Given the description of an element on the screen output the (x, y) to click on. 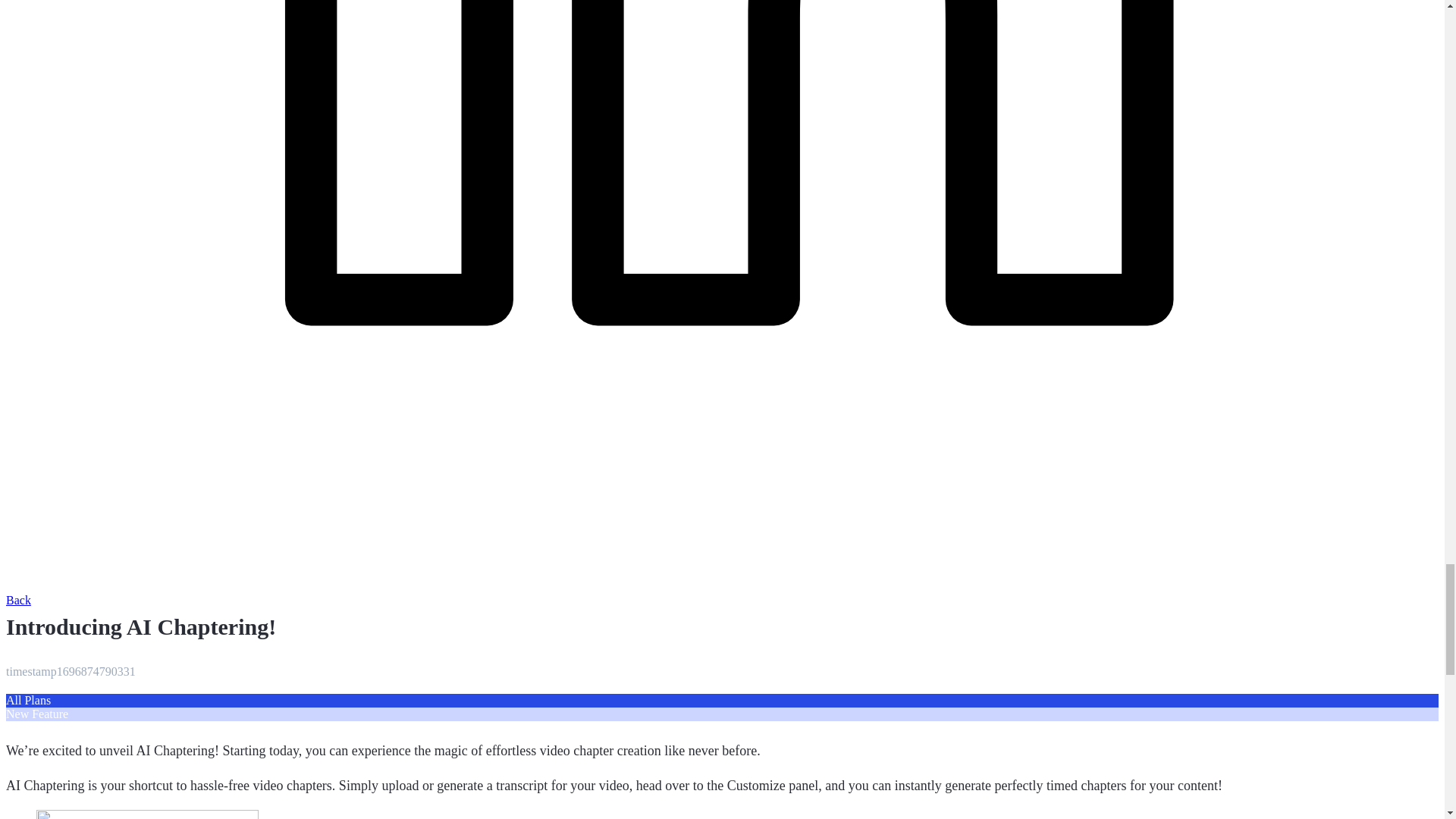
Back (17, 599)
Back (17, 599)
